Given the description of an element on the screen output the (x, y) to click on. 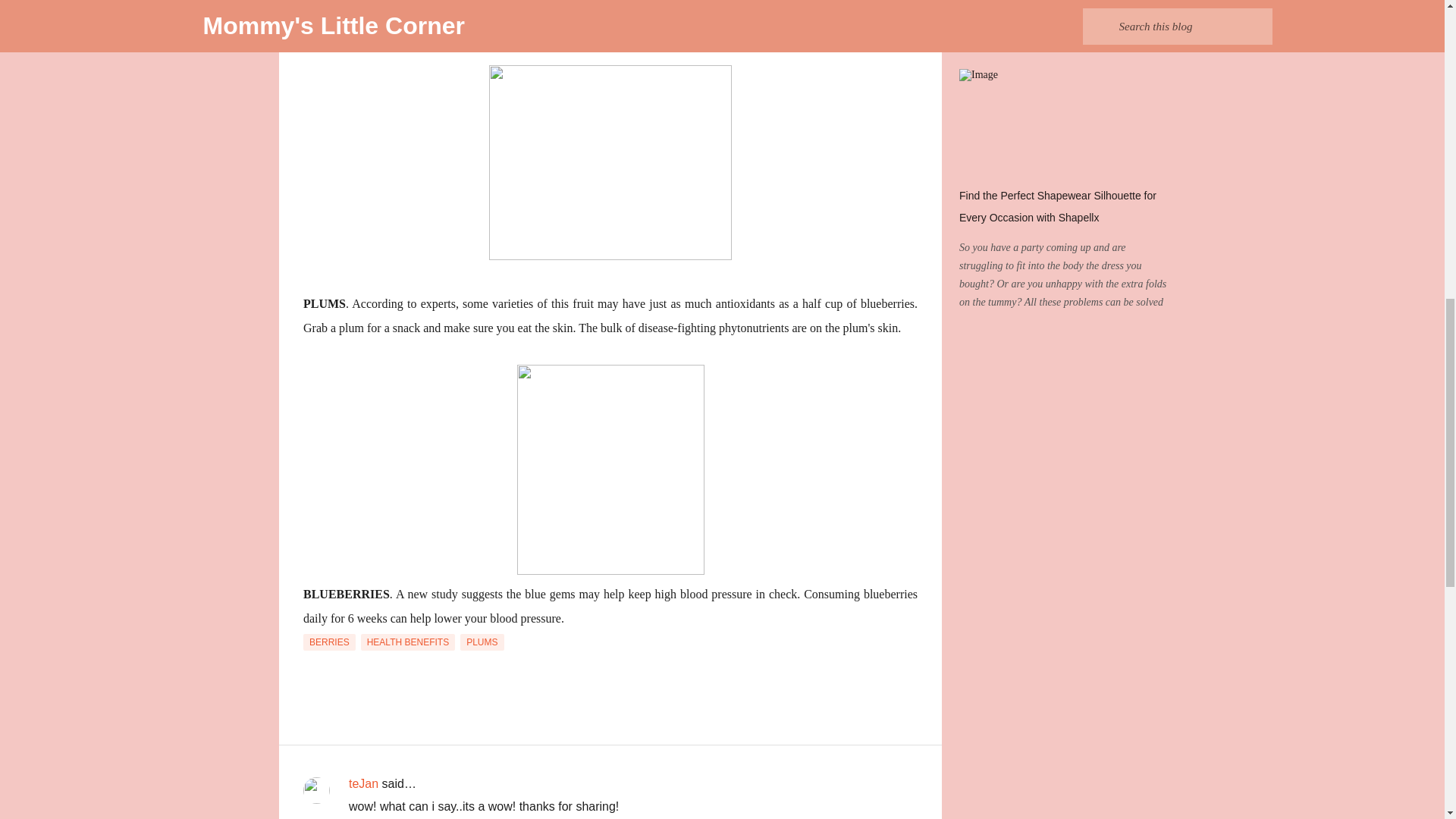
teJan (363, 783)
PLUMS (481, 641)
HEALTH BENEFITS (407, 641)
BERRIES (328, 641)
